Given the description of an element on the screen output the (x, y) to click on. 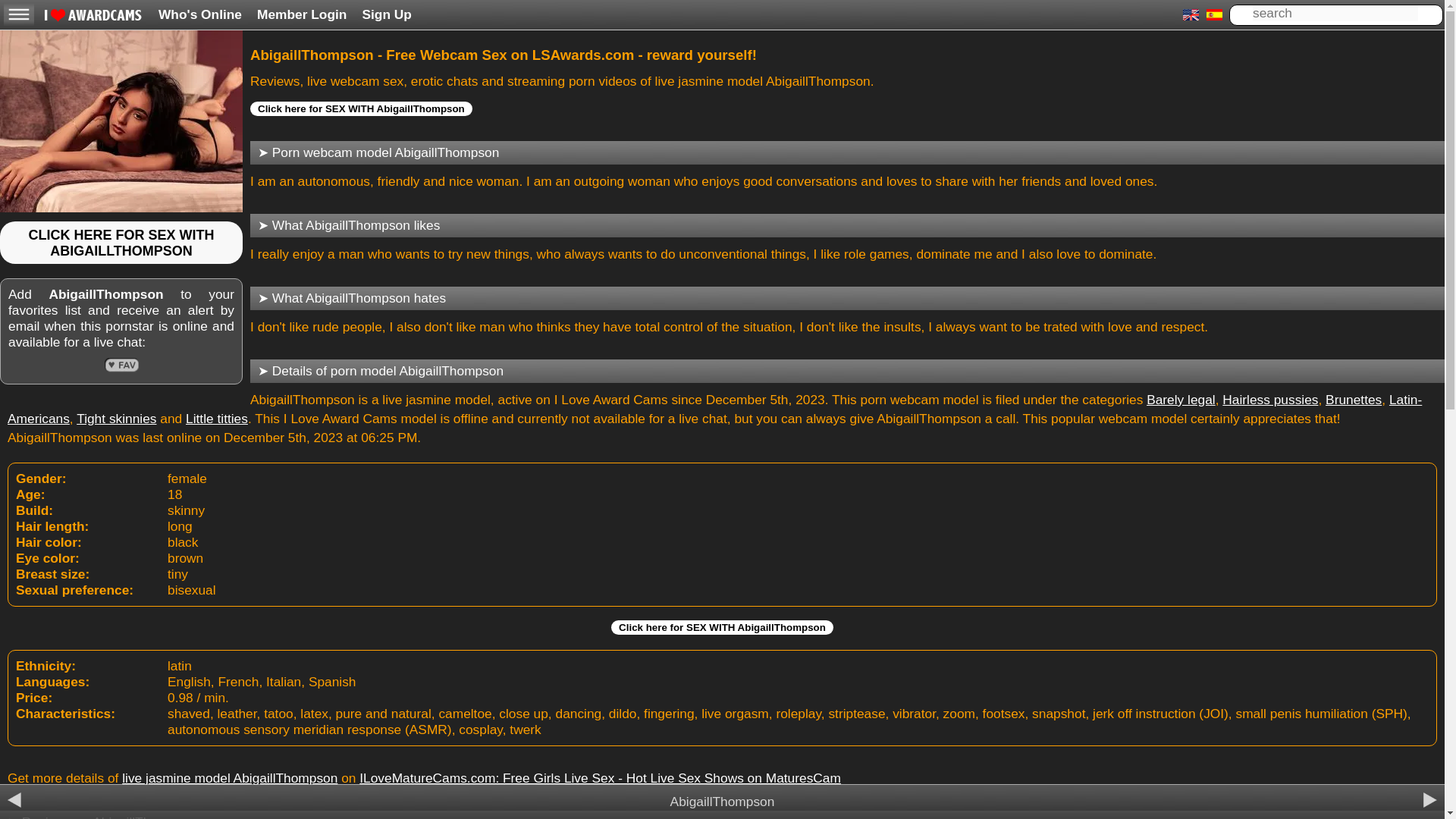
Click here for SEX WITH AbigaillThompson (721, 626)
Barely legal (1181, 399)
Little titties (216, 418)
Hairless pussies (1270, 399)
Brunettes (1352, 399)
Latin-Americans (714, 408)
English (1190, 15)
Tight skinnies (116, 418)
Who's Online (199, 14)
CLICK HERE FOR SEX WITH ABIGAILLTHOMPSON (120, 243)
Click here for SEX WITH AbigaillThompson (360, 108)
Who's Online (199, 14)
I Love Award Cams (92, 17)
